Given the description of an element on the screen output the (x, y) to click on. 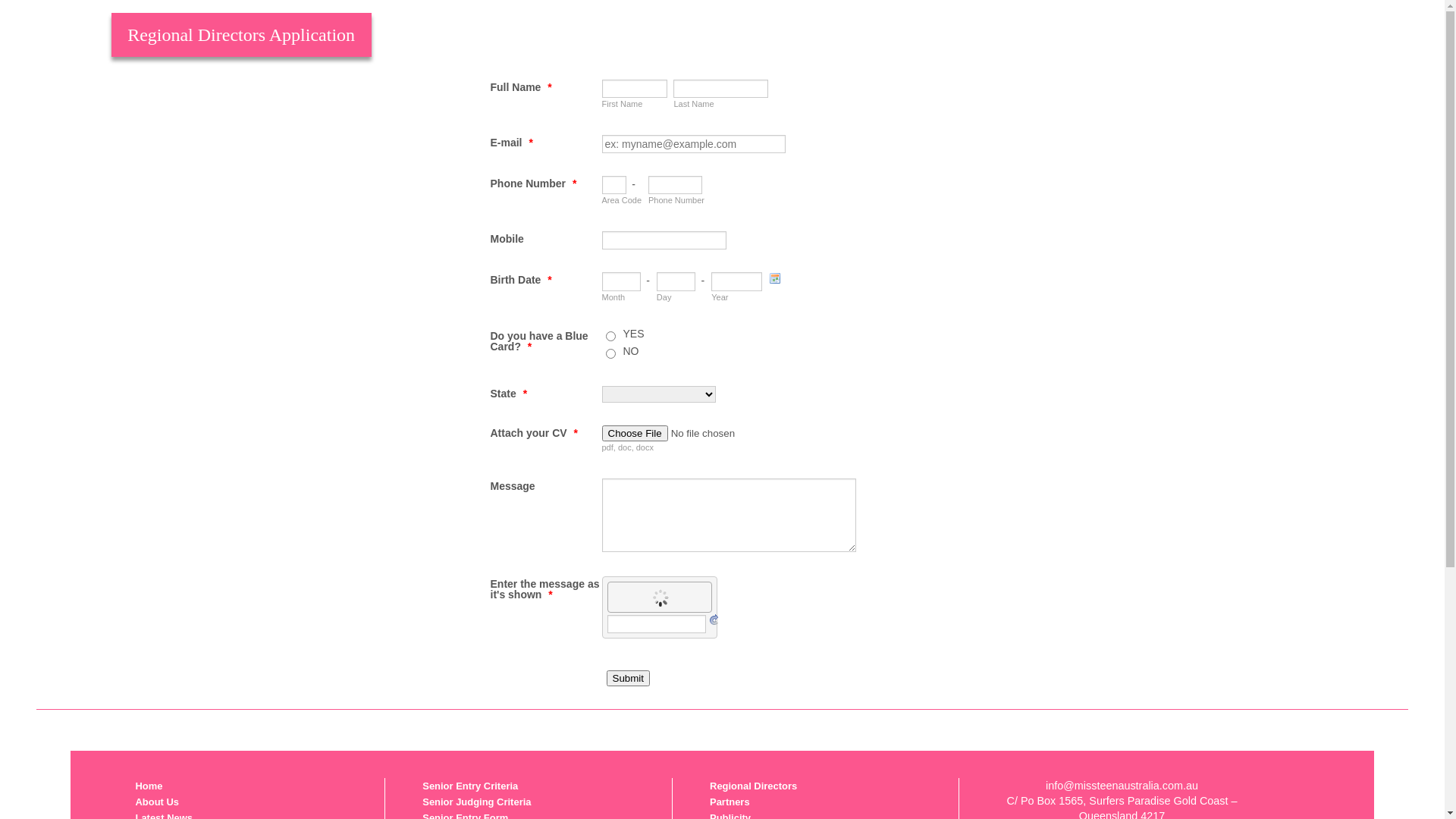
Submit Element type: text (627, 678)
Home Element type: text (148, 785)
Senior Entry Criteria Element type: text (469, 785)
About Us Element type: text (156, 801)
Partners Element type: text (729, 801)
Senior Judging Criteria Element type: text (476, 801)
Regional Directors Element type: text (753, 785)
